Given the description of an element on the screen output the (x, y) to click on. 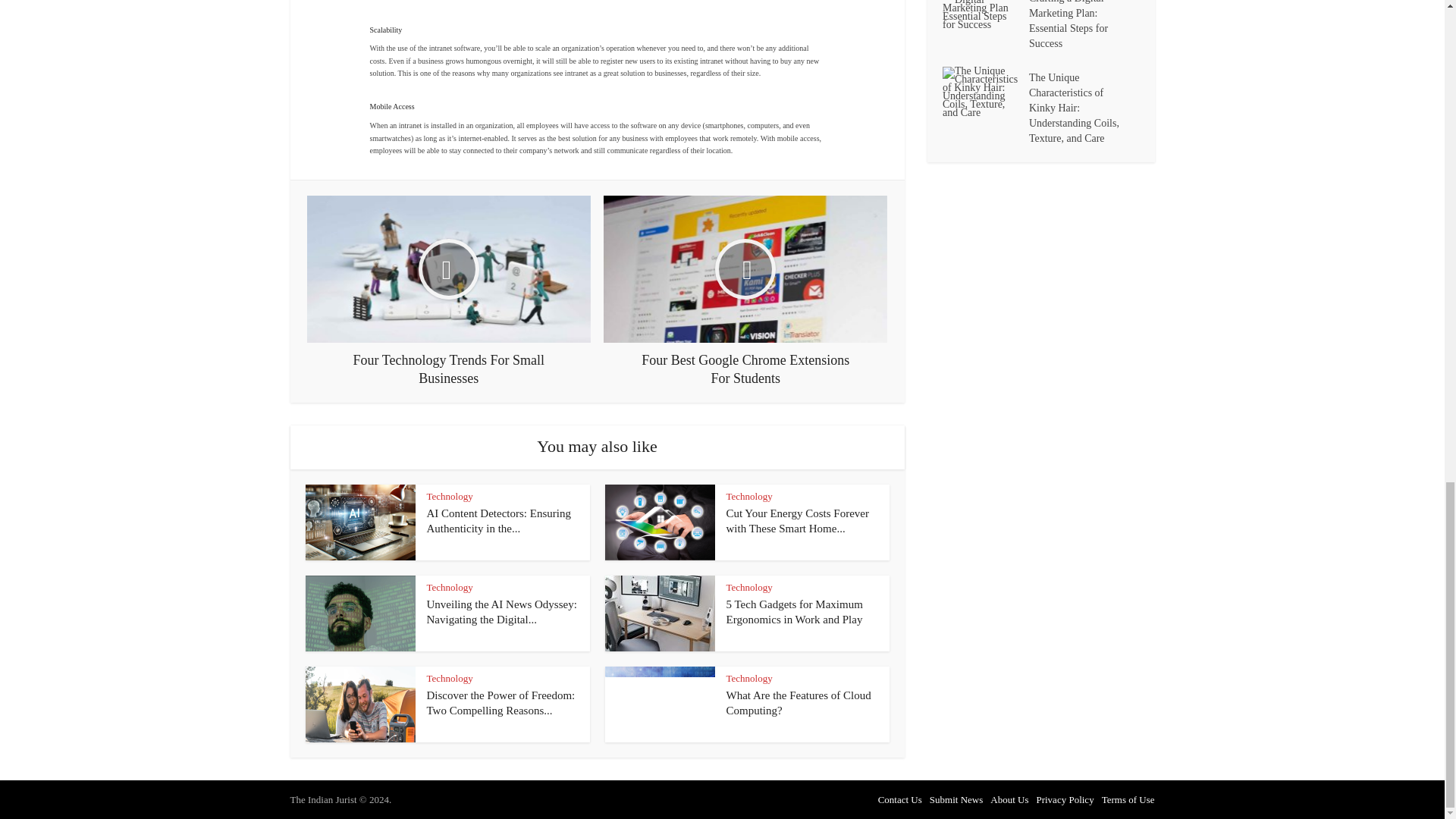
5 Tech Gadgets for Maximum Ergonomics in Work and Play (794, 611)
Four Best Google Chrome Extensions For Students (745, 290)
Four Technology Trends For Small Businesses (449, 290)
Technology (448, 586)
Technology (448, 496)
What Are the Features of Cloud Computing? (798, 702)
5 Tech Gadgets for Maximum Ergonomics in Work and Play (794, 611)
Cut Your Energy Costs Forever with These Smart Home... (797, 520)
